Given the description of an element on the screen output the (x, y) to click on. 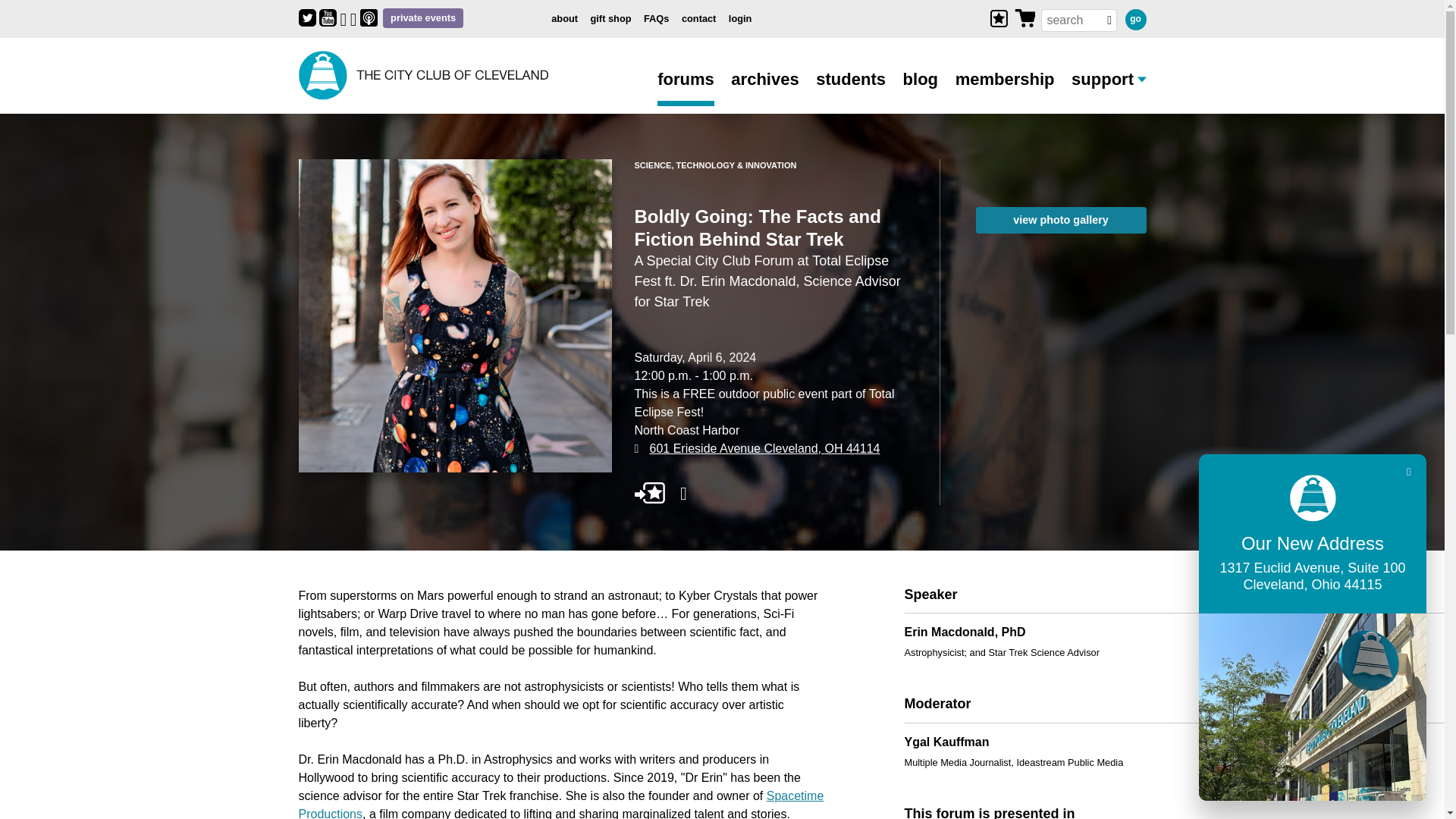
gift shop (609, 22)
contact (698, 22)
about (564, 22)
go (1136, 19)
FAQs (655, 22)
private events (422, 17)
